Given the description of an element on the screen output the (x, y) to click on. 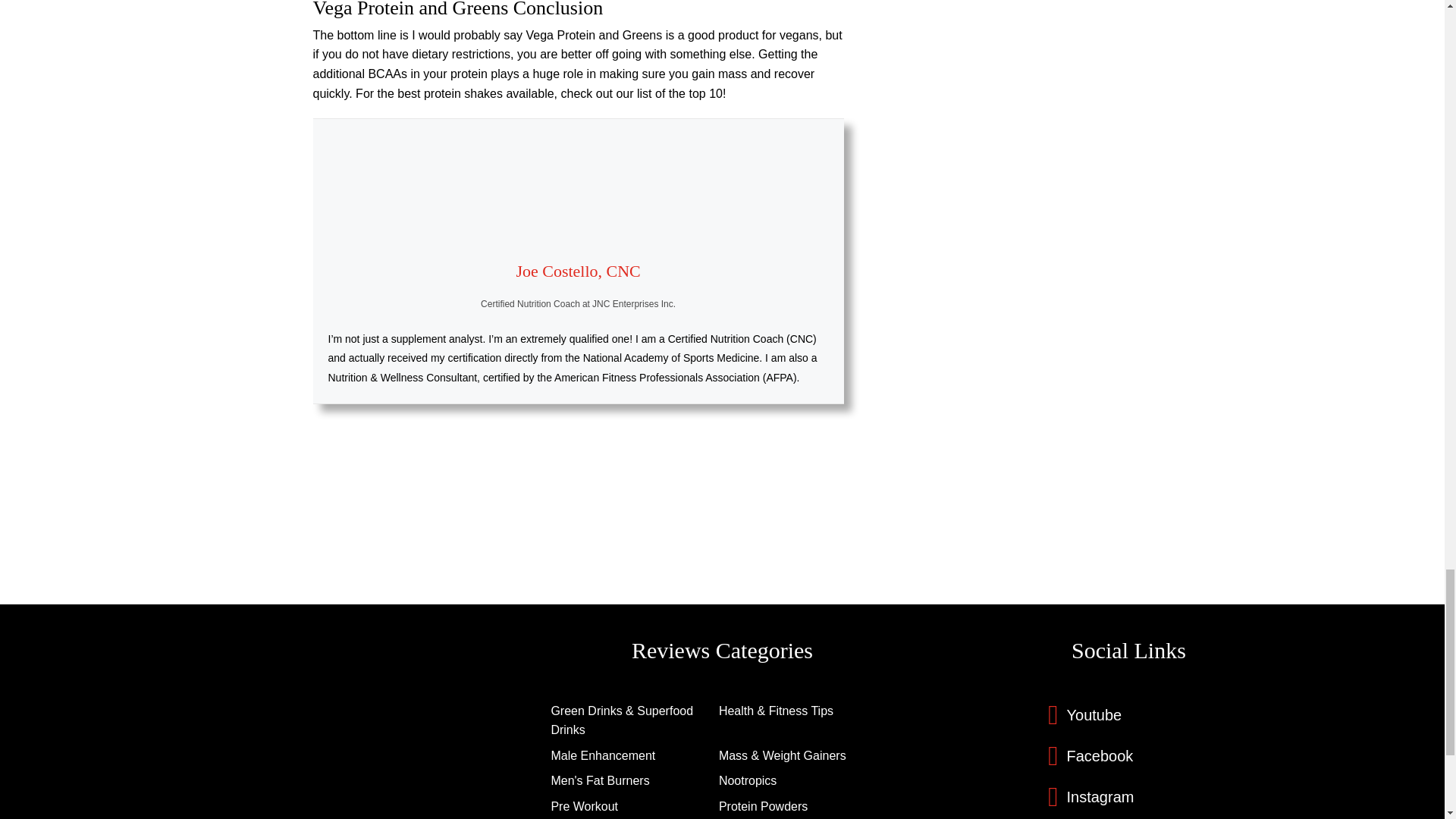
Joe Costello, CNC (577, 270)
